Given the description of an element on the screen output the (x, y) to click on. 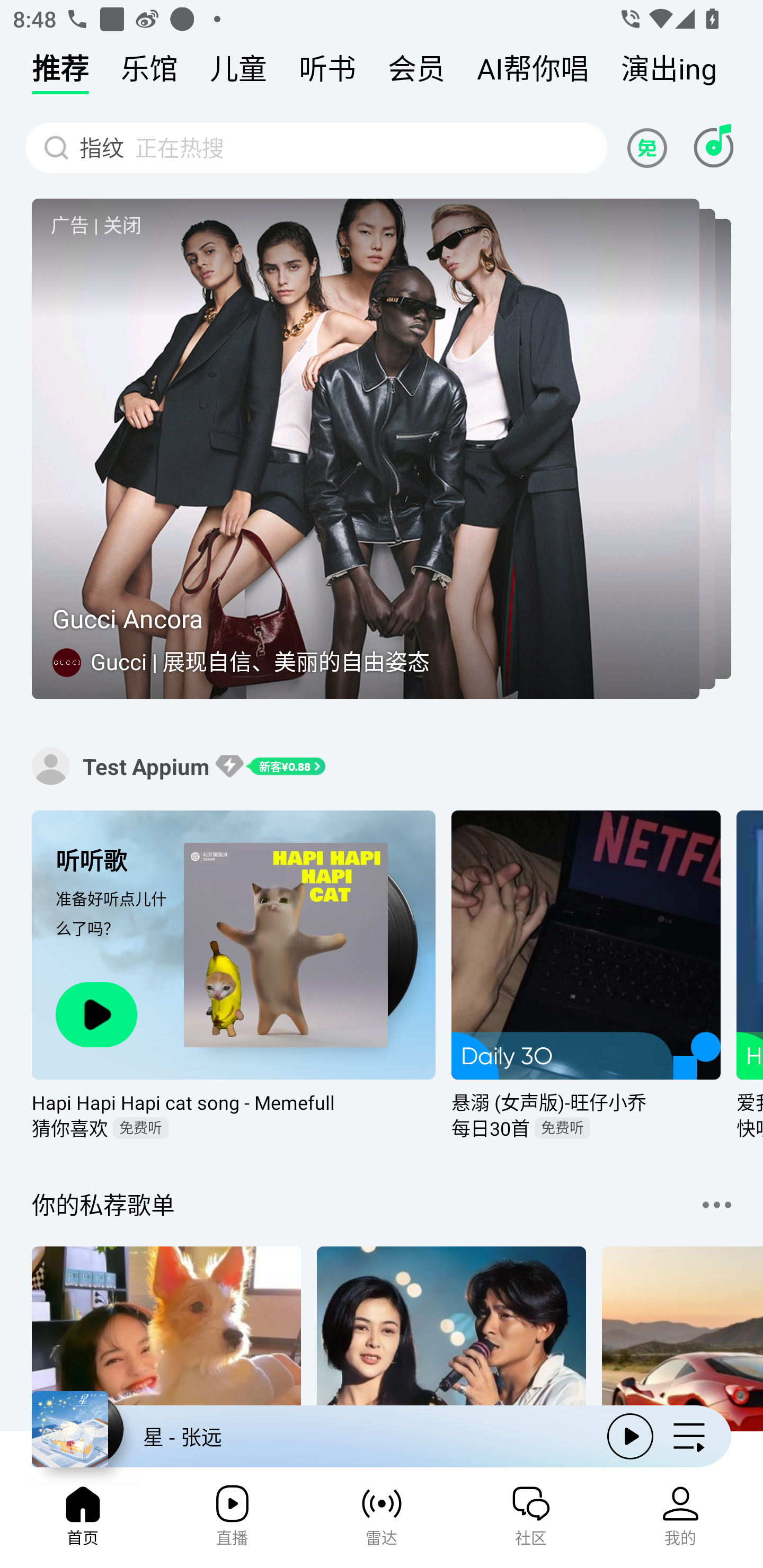
推荐 (60, 73)
乐馆 (149, 73)
儿童 (238, 73)
听书 (327, 73)
会员 (416, 73)
AI帮你唱 (532, 73)
演出ing (668, 73)
搜索 沉溺连续在榜28天🔥 沉溺 连续在榜28天🔥 (316, 147)
看广告免费听歌 (649, 146)
听歌识曲 (713, 146)
广告 | 关闭 Gucci Ancora Gucci | 展现自信、美丽的自由姿态 (381, 449)
广告 | 关闭 (96, 224)
Gucci | 展现自信、美丽的自由姿态 (261, 660)
Test Appium (51, 765)
新客¥0.88 VIP特权 (270, 765)
Test Appium (145, 765)
听听歌 (114, 860)
准备好听点儿什么了吗？ (114, 928)
播放猜你喜欢 (96, 1014)
Hapi Hapi Hapi cat song - Memefull (233, 1101)
悬溺 (女声版)-旺仔小乔 (585, 1101)
猜你喜欢免费听 (233, 1127)
每日30首免费听 (585, 1127)
你的私荐歌单 (103, 1204)
更多 (716, 1204)
500首抖音热歌：包你一次听个够音频. . 10.1万人收藏. 收听量, 1.8亿 (166, 1339)
【粤语老歌】岁月更迭，情怀依旧音频. . 5847人收藏. 收听量, 1324万 (450, 1339)
车载DJ : 旅途愉快，嗨掉疲劳音频. . 629人收藏. 收听量, 208.4万 (682, 1339)
星 - 张远 (311, 1435)
播放 (630, 1435)
歌曲队列 (688, 1435)
首页 (82, 1521)
直播 (231, 1521)
雷达 (381, 1521)
社区 (530, 1521)
我的 (680, 1521)
